Given the description of an element on the screen output the (x, y) to click on. 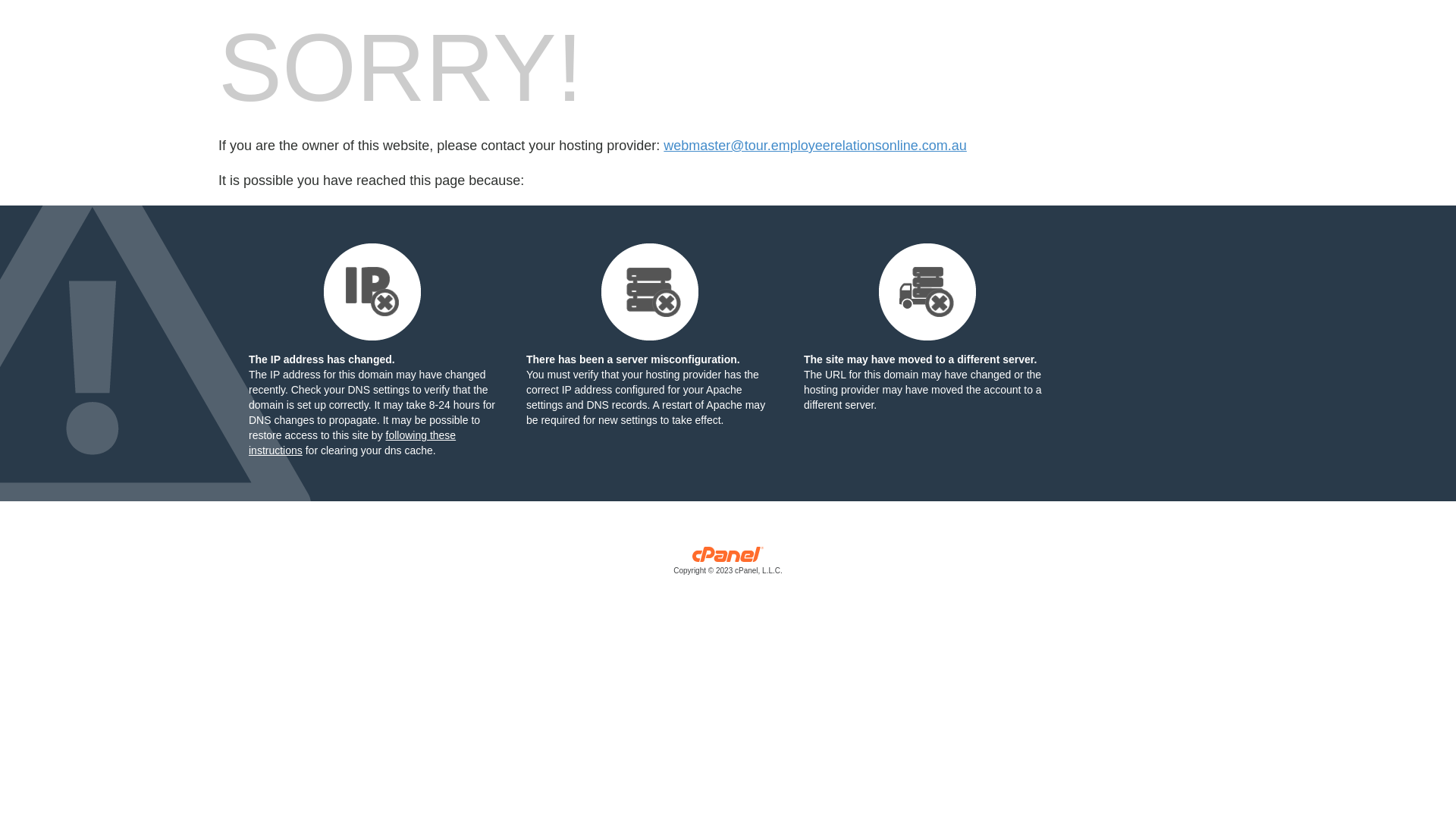
following these instructions Element type: text (351, 442)
webmaster@tour.employeerelationsonline.com.au Element type: text (814, 145)
